Given the description of an element on the screen output the (x, y) to click on. 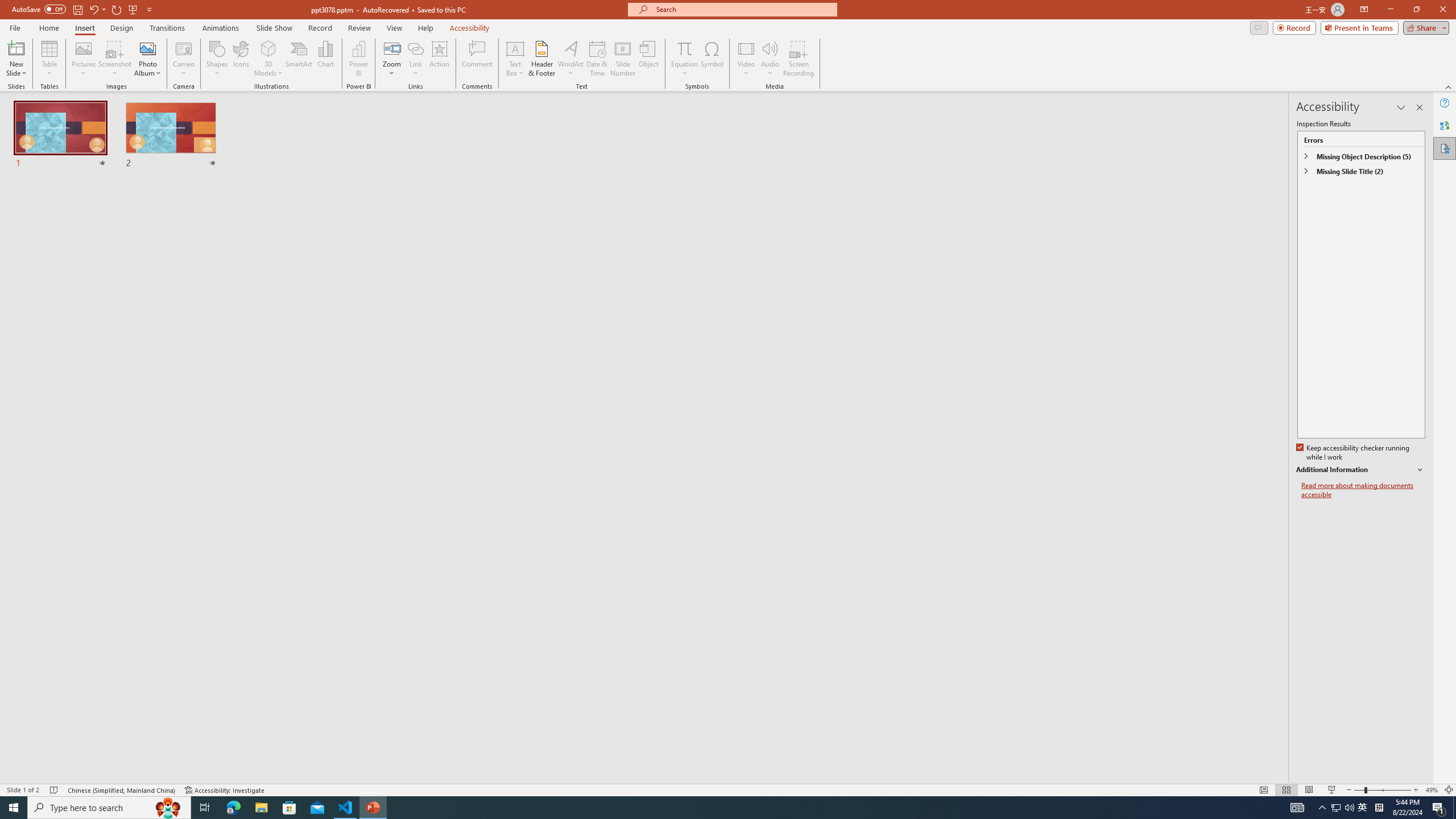
Pictures (83, 58)
Power BI (358, 58)
Equation (683, 48)
Header & Footer... (541, 58)
Action (439, 58)
Screenshot (114, 58)
New Photo Album... (147, 48)
